Given the description of an element on the screen output the (x, y) to click on. 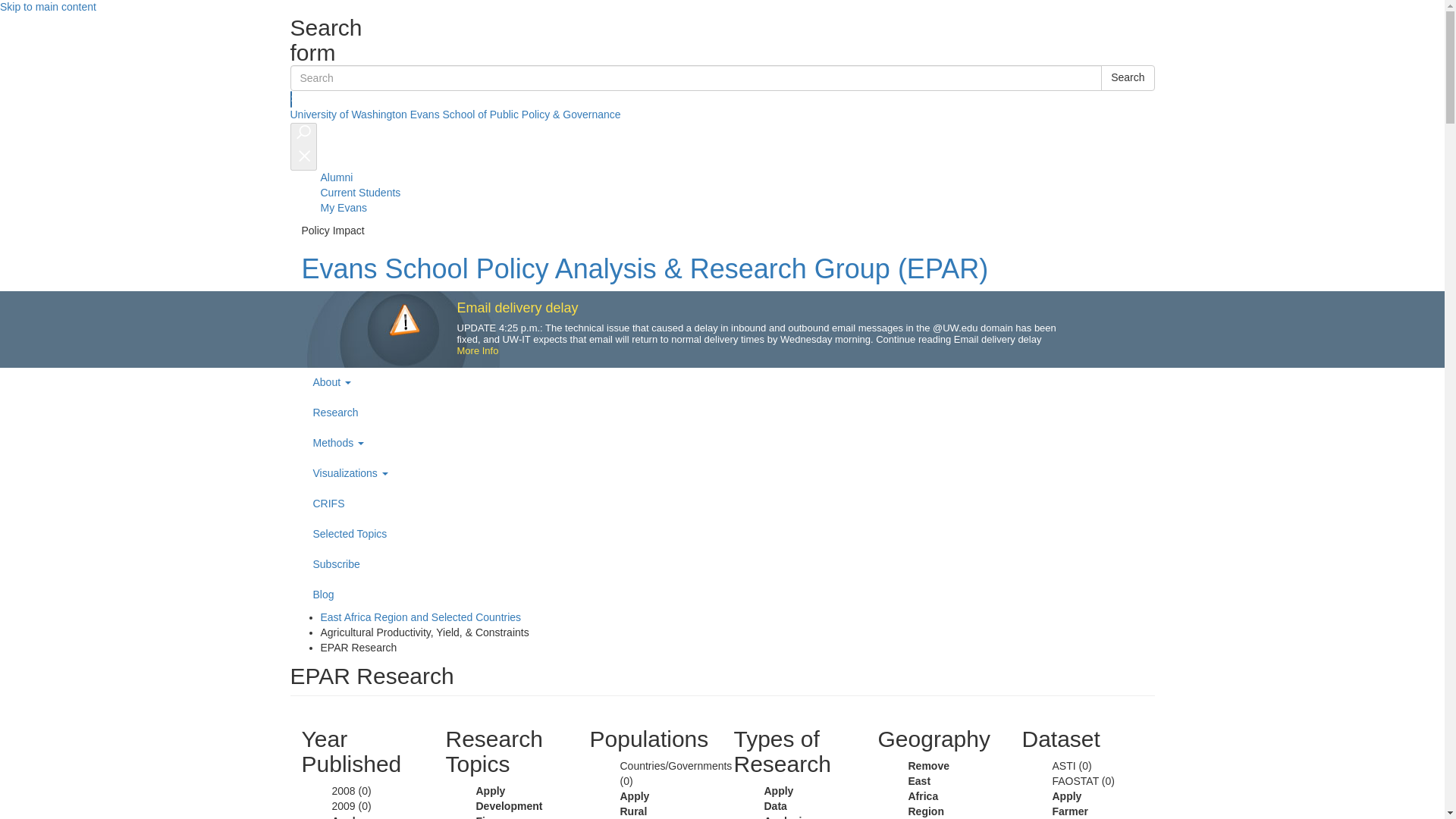
My Evans (343, 207)
Email delivery delay (517, 307)
Enter the terms you wish to search for. (695, 77)
Blog (733, 594)
Research (733, 413)
University of Washington (347, 114)
Subscribe (733, 564)
Search (1127, 77)
East Africa Region and Selected Countries (420, 616)
Email delivery delay (517, 307)
